Given the description of an element on the screen output the (x, y) to click on. 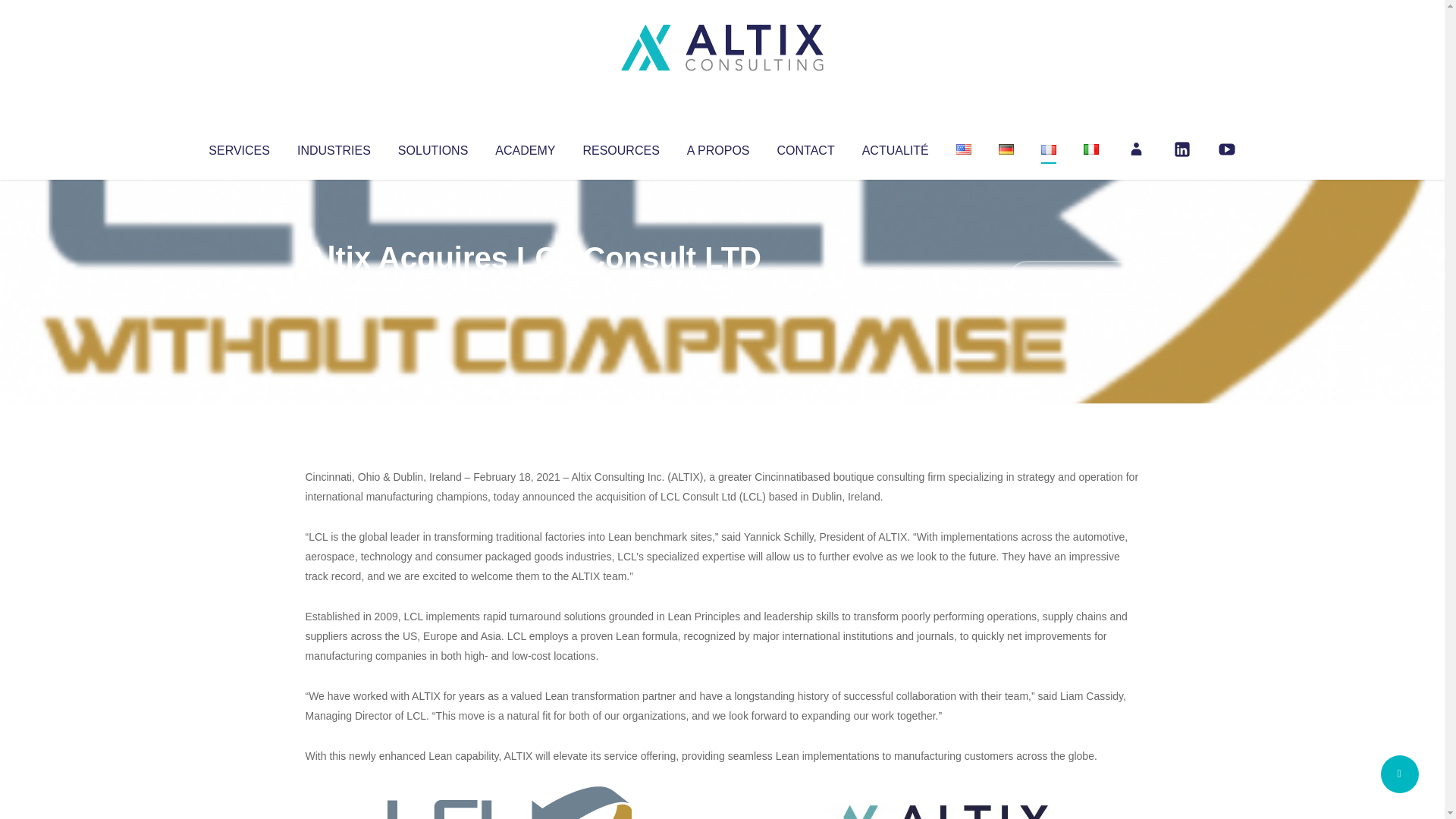
RESOURCES (620, 146)
ACADEMY (524, 146)
No Comments (1073, 278)
A PROPOS (718, 146)
SOLUTIONS (432, 146)
INDUSTRIES (334, 146)
Uncategorized (530, 287)
Altix (333, 287)
Articles par Altix (333, 287)
SERVICES (238, 146)
